Given the description of an element on the screen output the (x, y) to click on. 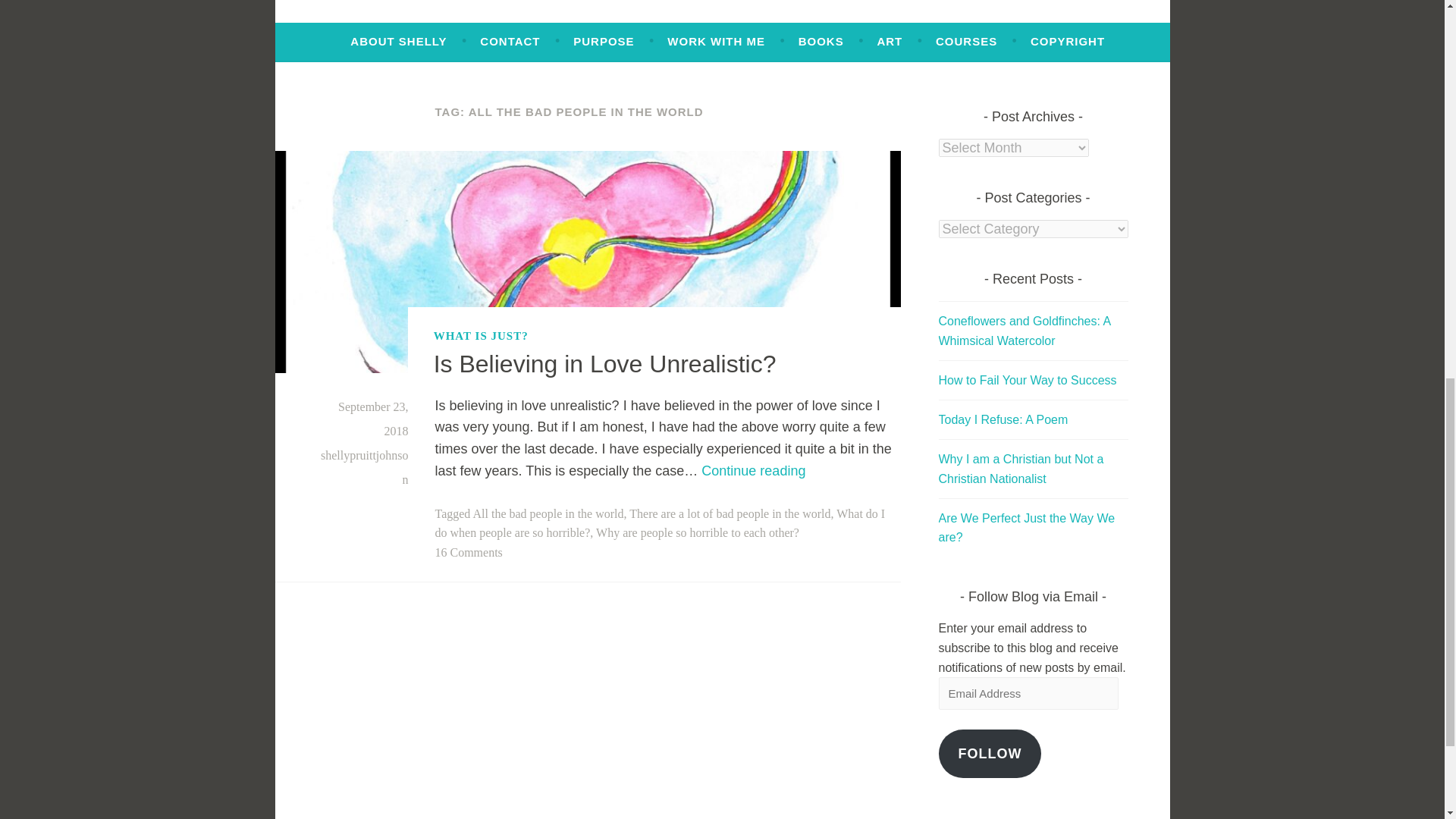
16 Comments (468, 552)
CONTACT (510, 41)
ABOUT SHELLY (398, 41)
There are a lot of bad people in the world (728, 513)
September 23, 2018 (372, 418)
FOLLOW (753, 470)
Why I am a Christian but Not a Christian Nationalist (990, 753)
Are We Perfect Just the Way We are? (1021, 468)
How to Fail Your Way to Success (1027, 527)
